Given the description of an element on the screen output the (x, y) to click on. 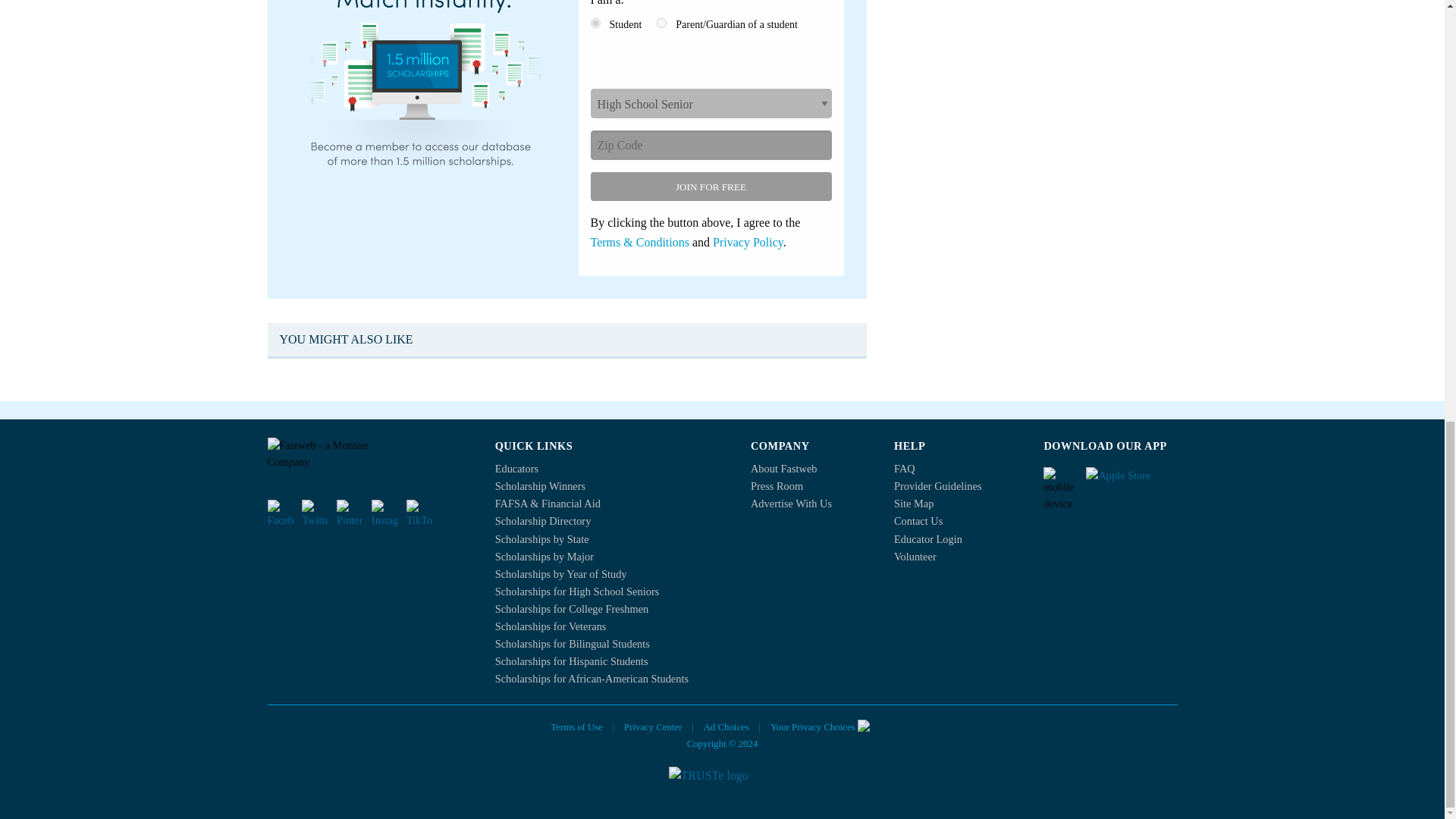
2 (661, 22)
1 (594, 22)
Fastweb on Facebook (280, 512)
Fastweb on TikTok (419, 512)
Join for free (710, 185)
Fastweb on Instagram (384, 512)
Fastweb on IOS (1131, 480)
Fastweb on Pinterest (349, 512)
